Given the description of an element on the screen output the (x, y) to click on. 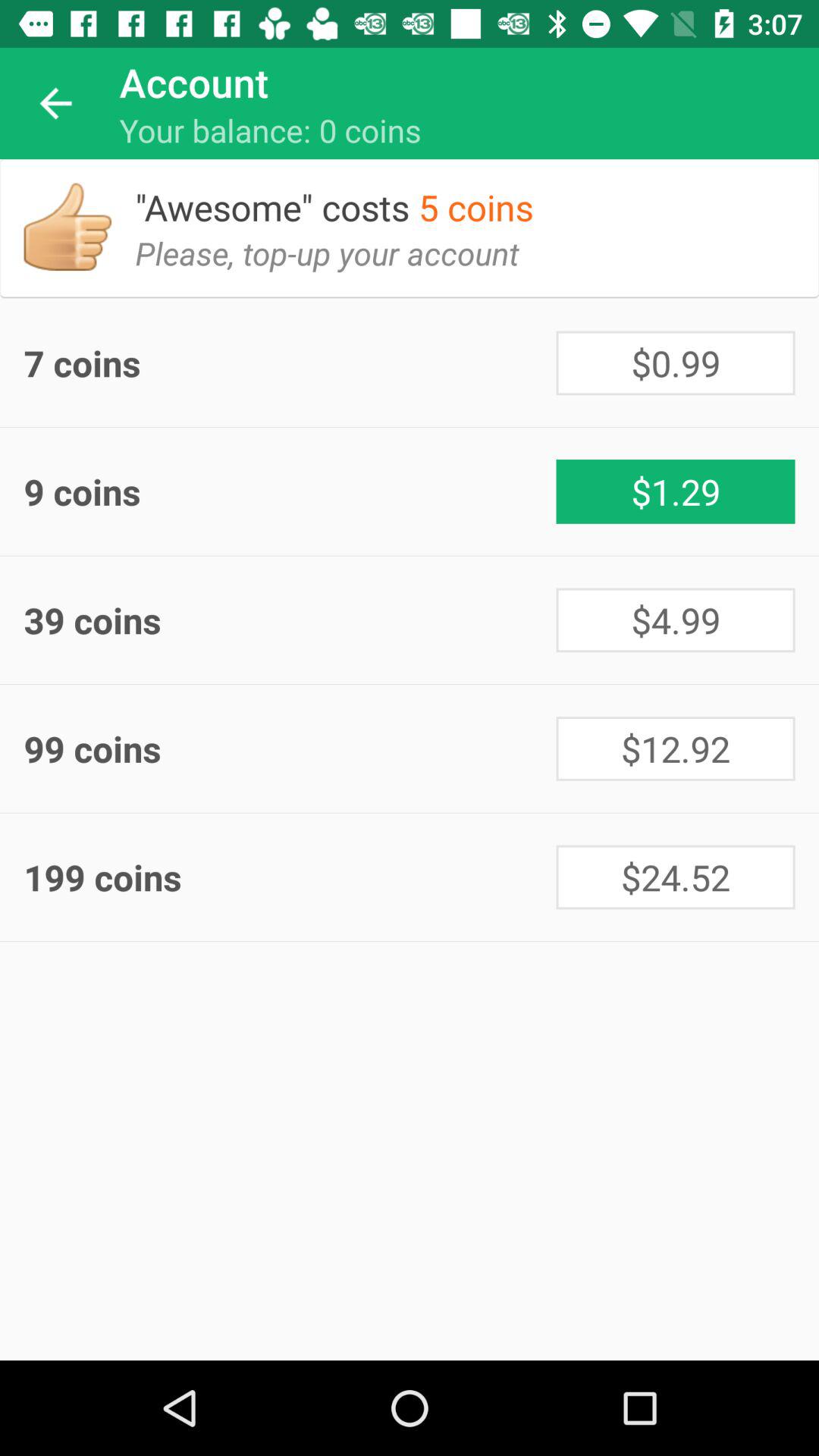
press the item next to the $4.99 (289, 620)
